Given the description of an element on the screen output the (x, y) to click on. 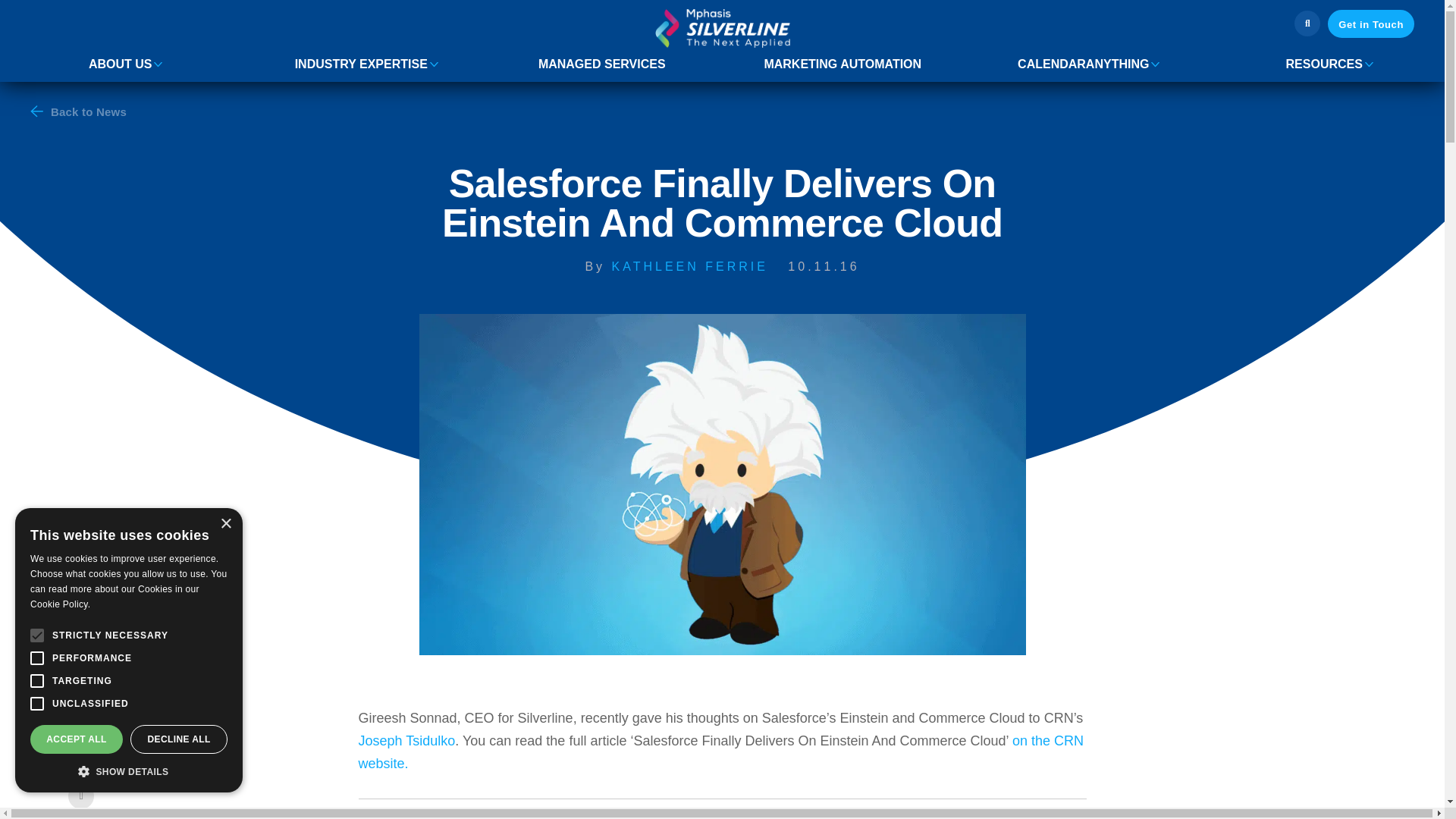
ABOUT US (120, 63)
Get in Touch (1370, 22)
MARKETING AUTOMATION (841, 63)
MANAGED SERVICES (601, 63)
INDUSTRY EXPERTISE (361, 63)
CALENDARANYTHING (1082, 63)
